Given the description of an element on the screen output the (x, y) to click on. 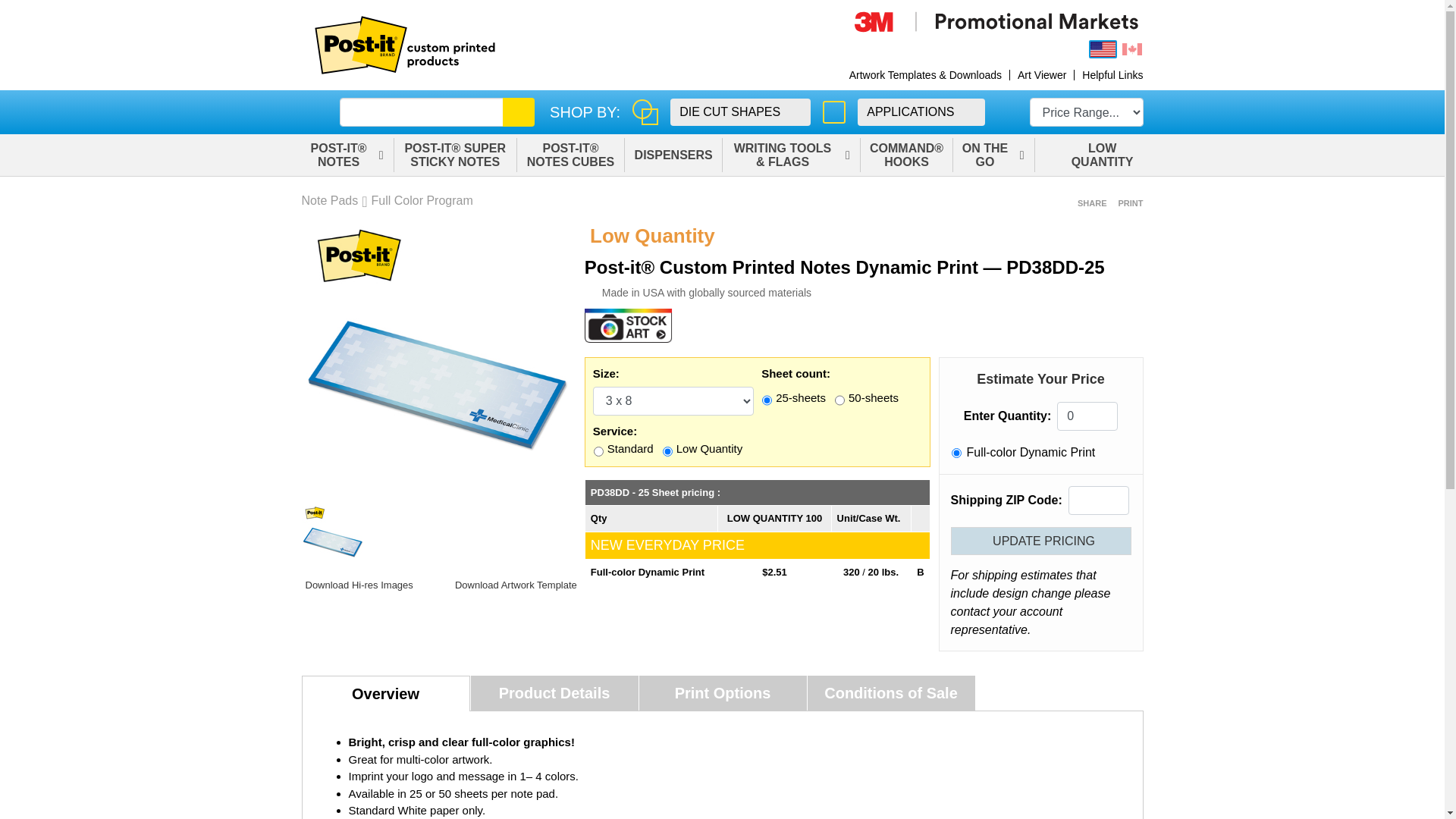
Conditions of Sale Element type: text (890, 692)
Download Artwork Template Element type: text (514, 584)
WRITING TOOLS
& FLAGS Element type: text (790, 155)
SHARE Element type: text (1090, 203)
ON THE
GO Element type: text (993, 155)
Product Details Element type: text (553, 692)
Note Pads Element type: text (329, 200)
PRINT Element type: text (1128, 203)
DIE CUT SHAPES Element type: text (740, 111)
Full Color Program Element type: text (422, 200)
APPLICATIONS Element type: text (920, 111)
DISPENSERS Element type: text (672, 155)
Art Viewer Element type: text (1041, 74)
UPDATE PRICING Element type: text (1040, 541)
Download Hi-res Images Element type: text (357, 584)
Helpful Links Element type: text (1112, 74)
Artwork Templates & Downloads Element type: text (925, 74)
LOW
QUANTITY Element type: text (1089, 155)
Overview Element type: text (385, 693)
Print Options Element type: text (722, 692)
